Given the description of an element on the screen output the (x, y) to click on. 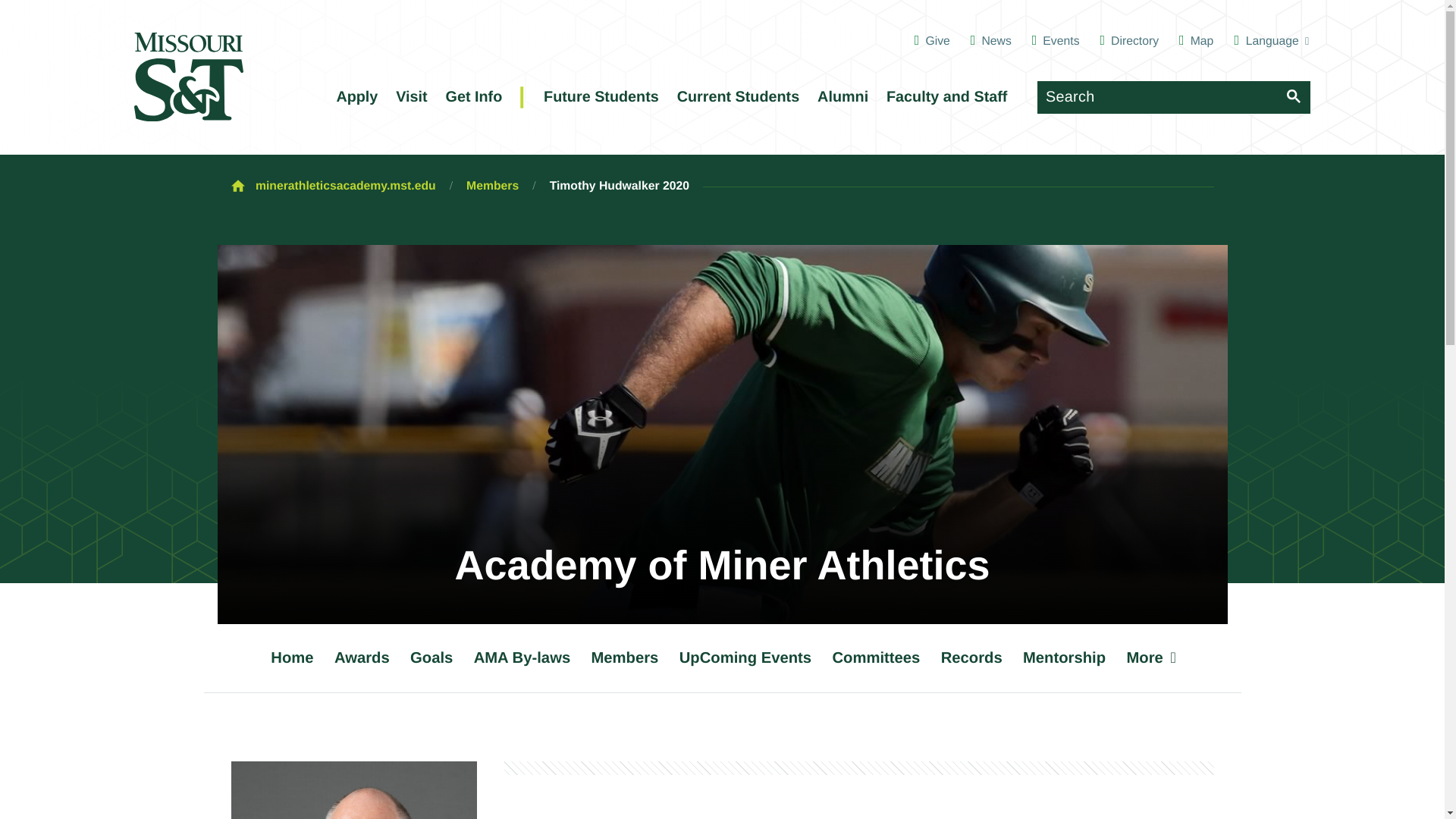
Alumni (841, 97)
Home (291, 658)
Map (1195, 41)
Get Info (473, 96)
Events (1056, 41)
Future Students (601, 97)
Visit (411, 97)
Current Students (738, 97)
Members (491, 186)
Apply (356, 97)
